Given the description of an element on the screen output the (x, y) to click on. 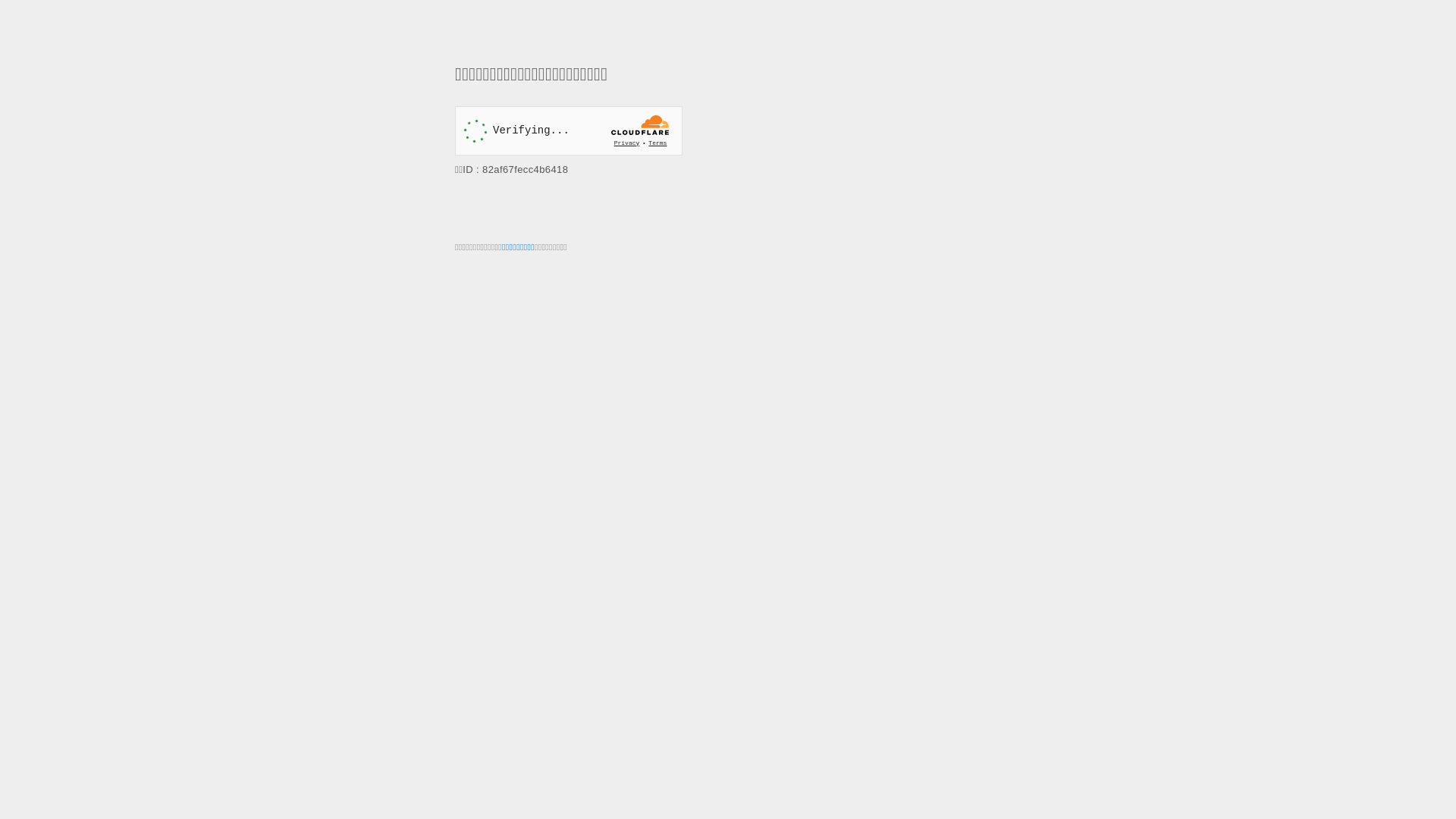
Widget containing a Cloudflare security challenge Element type: hover (568, 130)
